Given the description of an element on the screen output the (x, y) to click on. 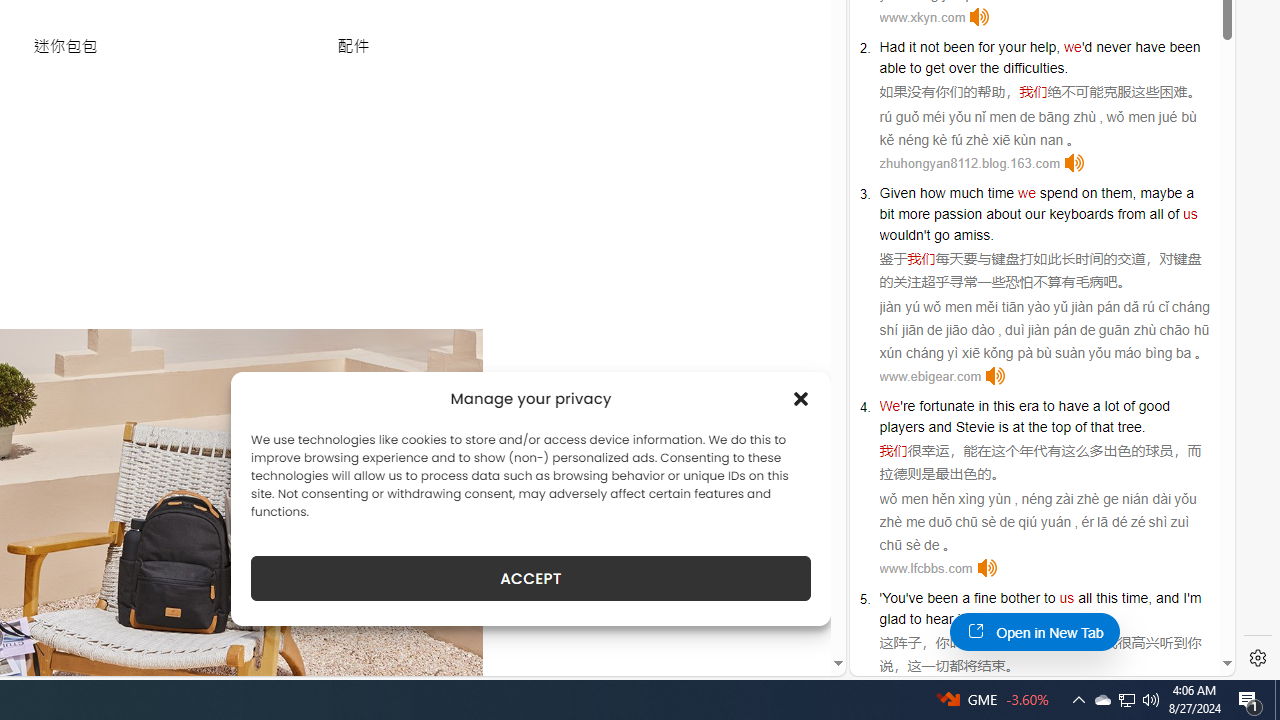
spend (1058, 192)
a (966, 597)
amiss (971, 234)
Click to listen (986, 568)
difficulties (1033, 67)
all (1085, 597)
never (1113, 46)
